Given the description of an element on the screen output the (x, y) to click on. 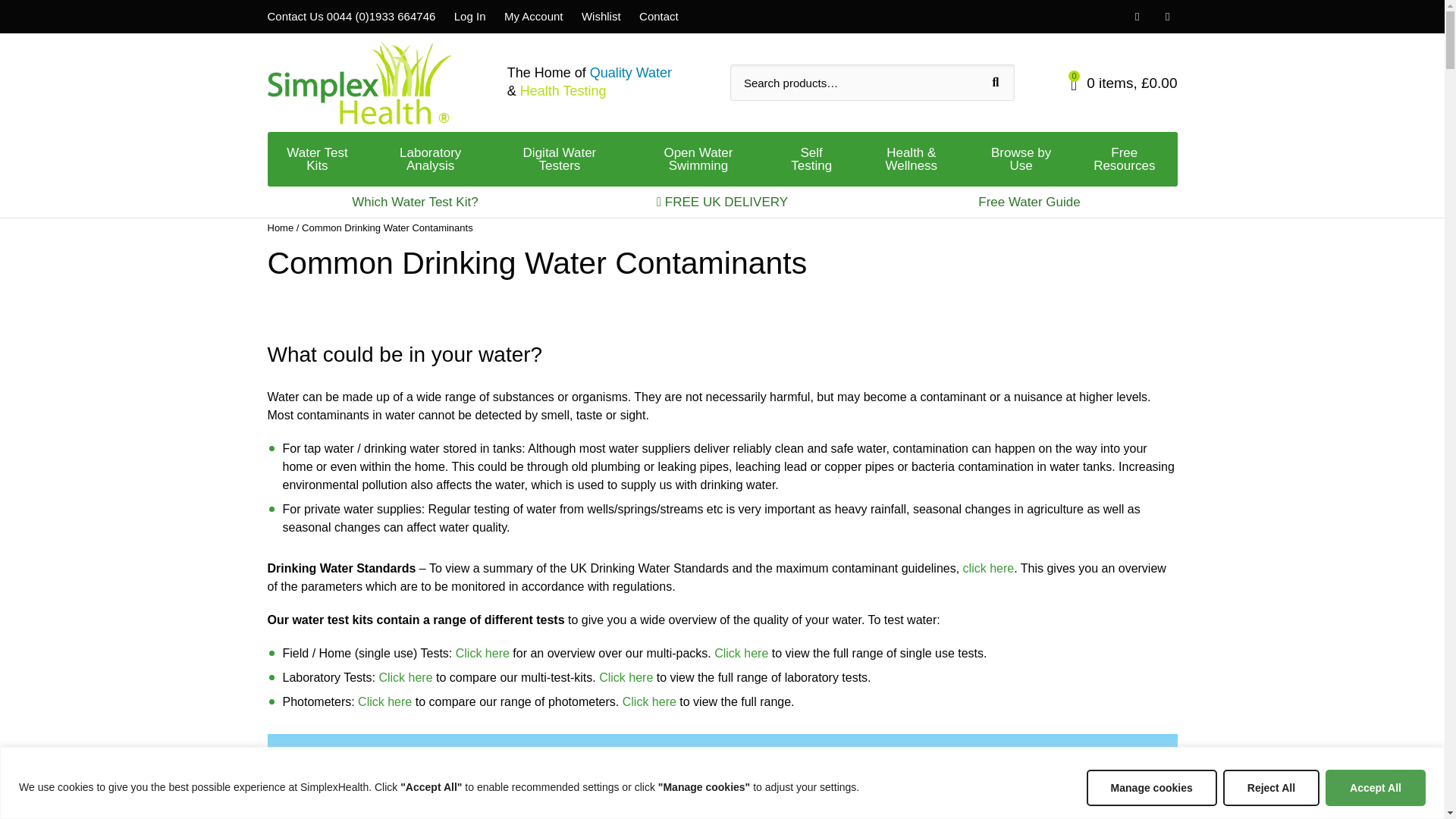
My Account (533, 15)
Contact (600, 15)
Manage cookies (1151, 787)
My Account (533, 15)
Reject All (1271, 787)
Search (995, 82)
Log In (470, 15)
Contact (658, 15)
Wishlist (600, 15)
Contact (658, 15)
Accept All (1374, 787)
SimplexHealth (357, 82)
Water Test Kits (316, 159)
